Given the description of an element on the screen output the (x, y) to click on. 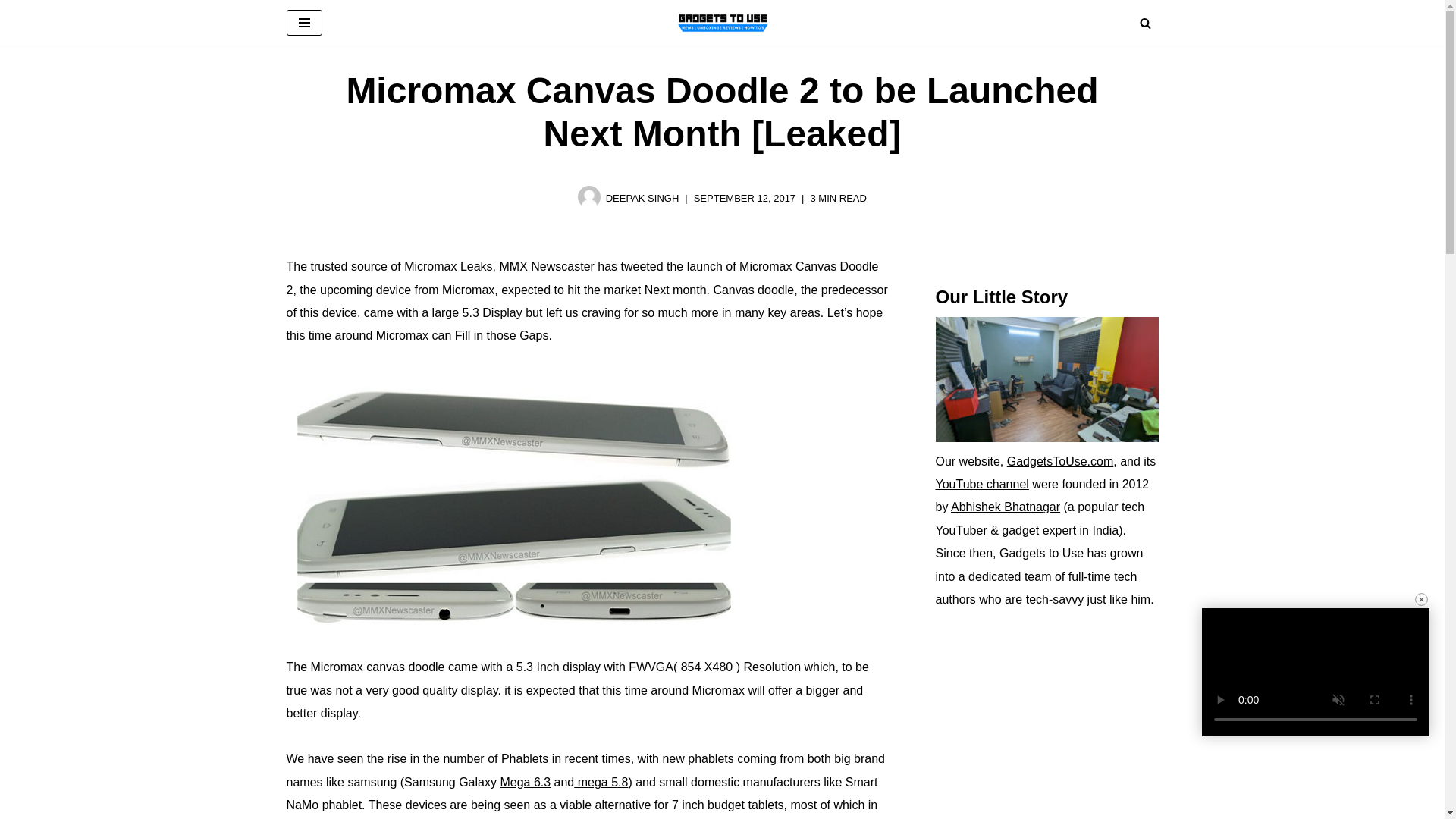
DEEPAK SINGH (642, 197)
image (513, 498)
mega 5.8 (600, 781)
Skip to content (11, 31)
Mega 6.3 (524, 781)
Posts by Deepak Singh (642, 197)
Navigation Menu (303, 22)
